Given the description of an element on the screen output the (x, y) to click on. 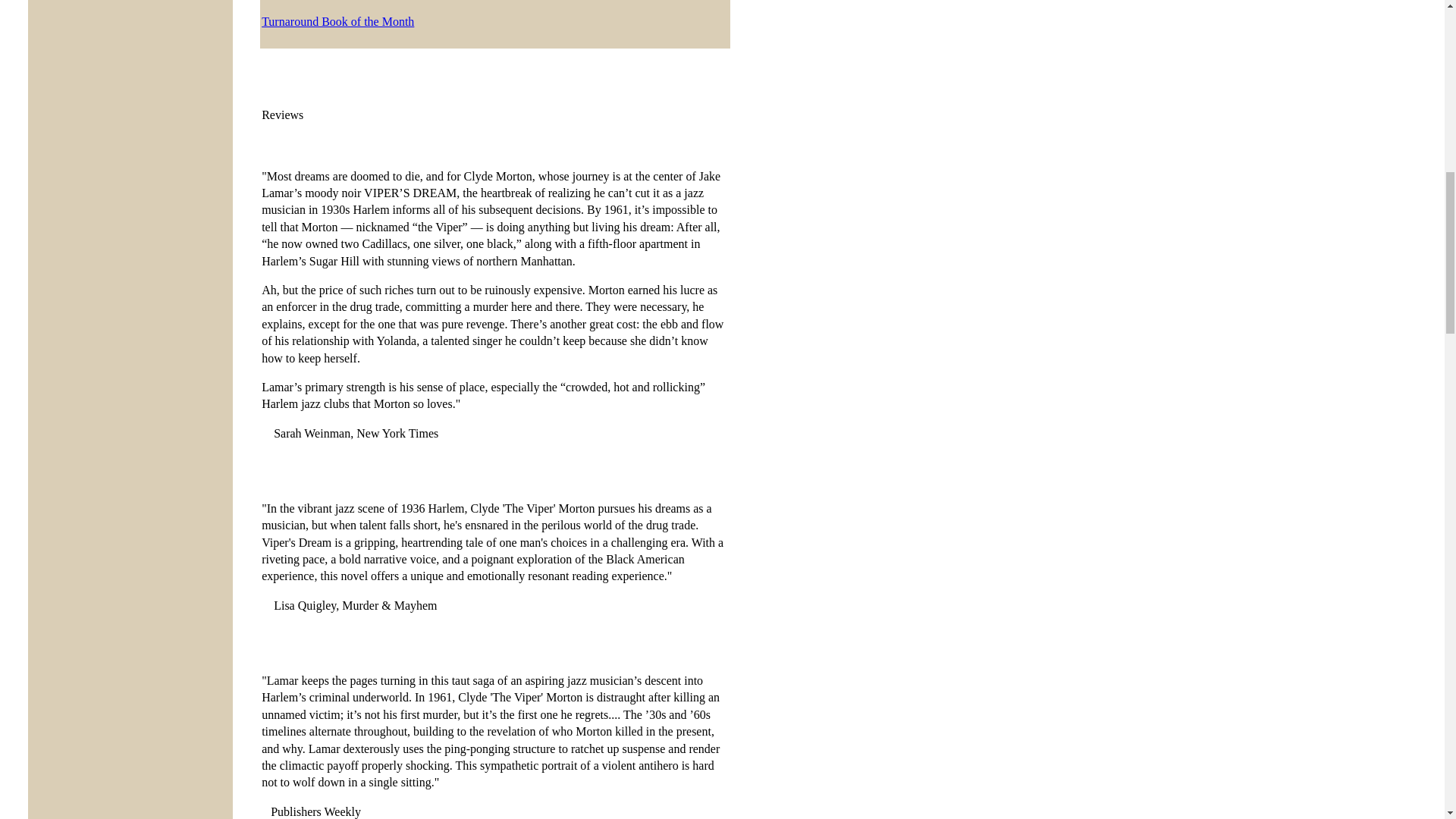
Turnaround Book of the Month (337, 21)
